Given the description of an element on the screen output the (x, y) to click on. 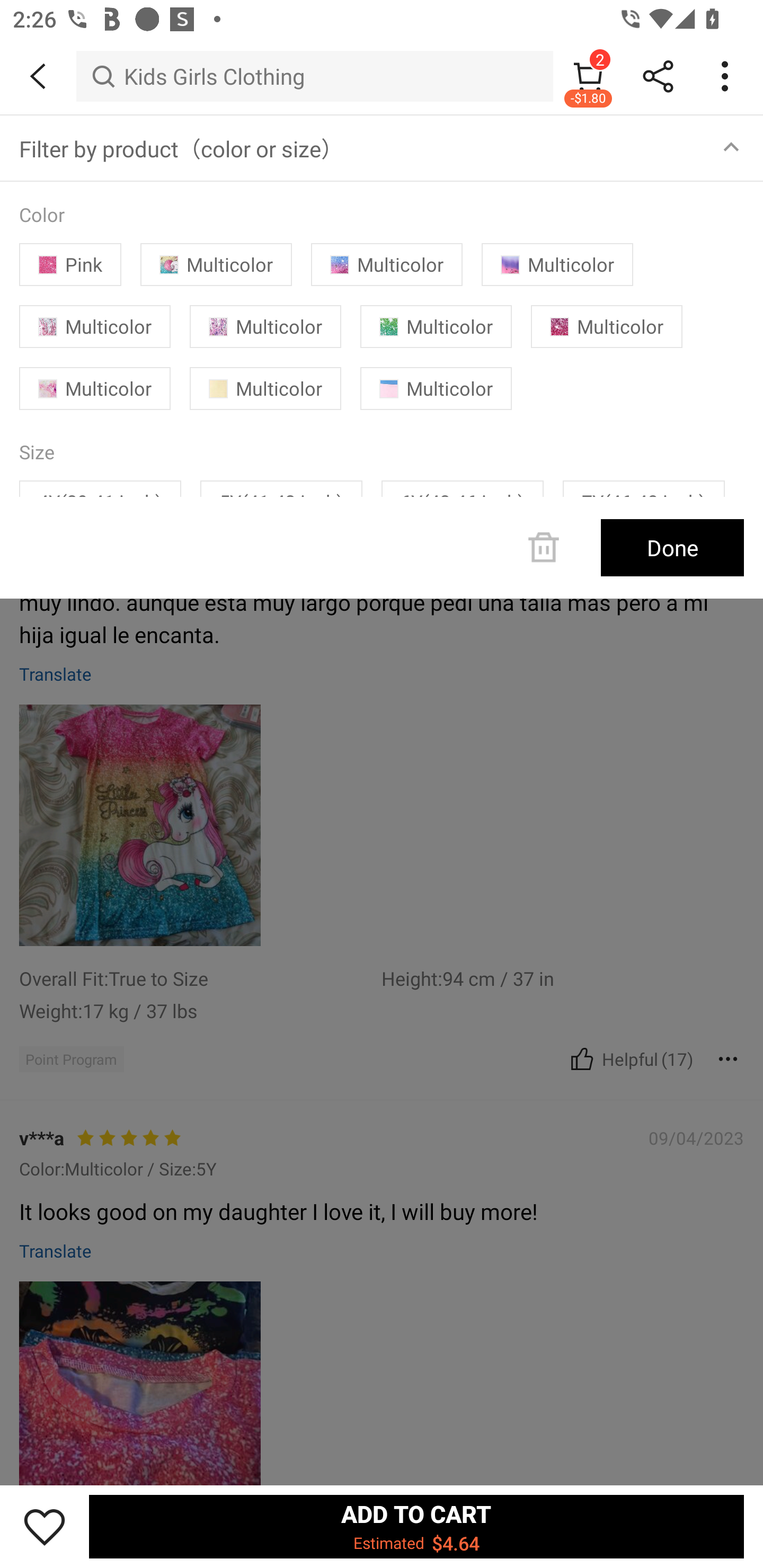
Pink (70, 264)
Multicolor (216, 264)
Multicolor (386, 264)
Multicolor (557, 264)
Multicolor (94, 326)
Multicolor (265, 326)
Multicolor (435, 326)
Multicolor (606, 326)
Multicolor (94, 387)
Multicolor (265, 387)
Multicolor (435, 387)
Done (672, 548)
